Given the description of an element on the screen output the (x, y) to click on. 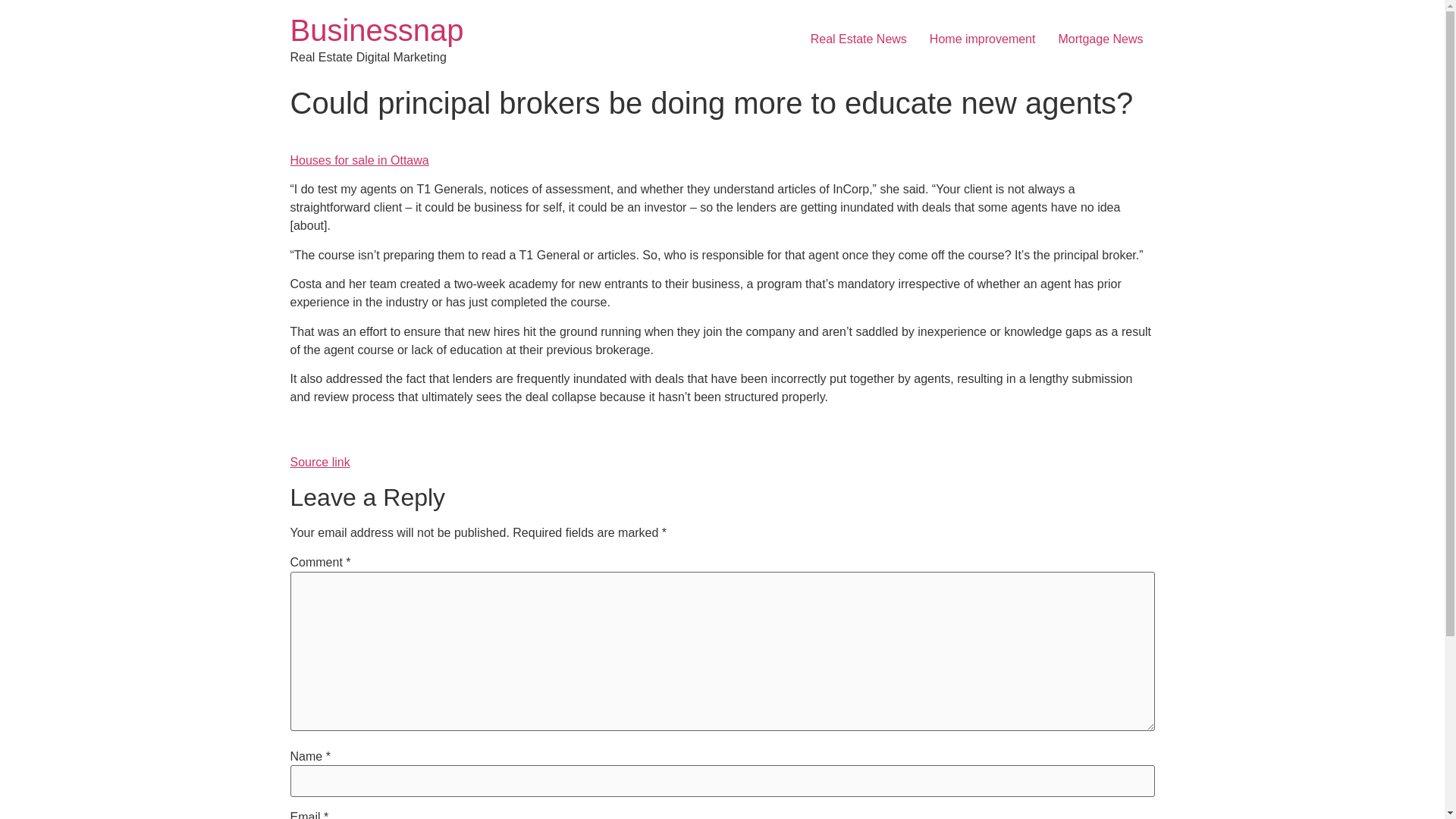
Home improvement (982, 39)
Home (376, 29)
Mortgage News (1100, 39)
Houses for sale in Ottawa (358, 160)
Real Estate News (858, 39)
Source link (319, 461)
Businessnap (376, 29)
Houses for sale in Ottawa (358, 160)
